Given the description of an element on the screen output the (x, y) to click on. 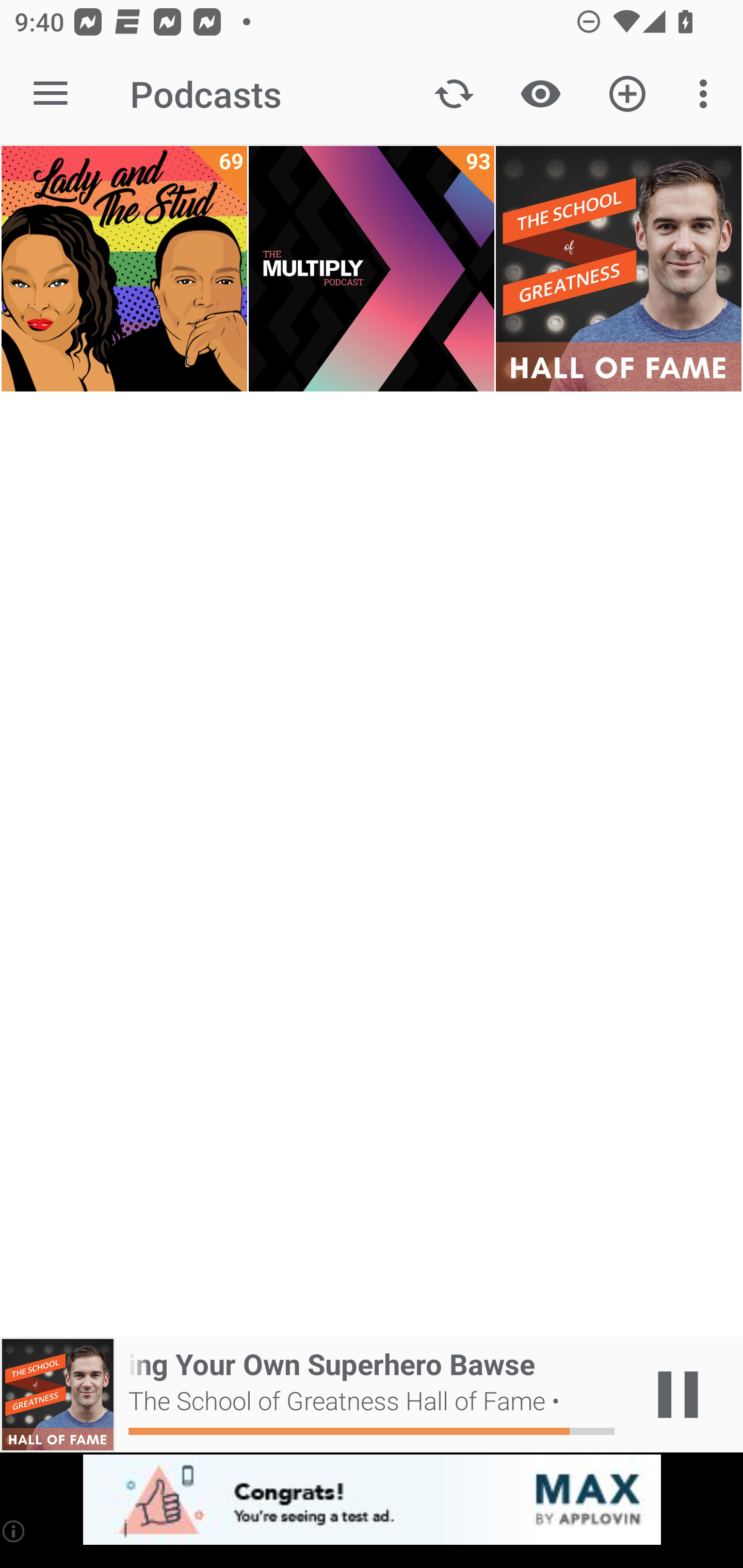
Open navigation sidebar (50, 93)
Update (453, 93)
Show / Hide played content (540, 93)
Add new Podcast (626, 93)
More options (706, 93)
Lady and The Stud 69 (124, 268)
The Multiply Podcast 93 (371, 268)
The School of Greatness Hall of Fame (618, 268)
Play / Pause (677, 1394)
app-monetization (371, 1500)
(i) (14, 1531)
